Given the description of an element on the screen output the (x, y) to click on. 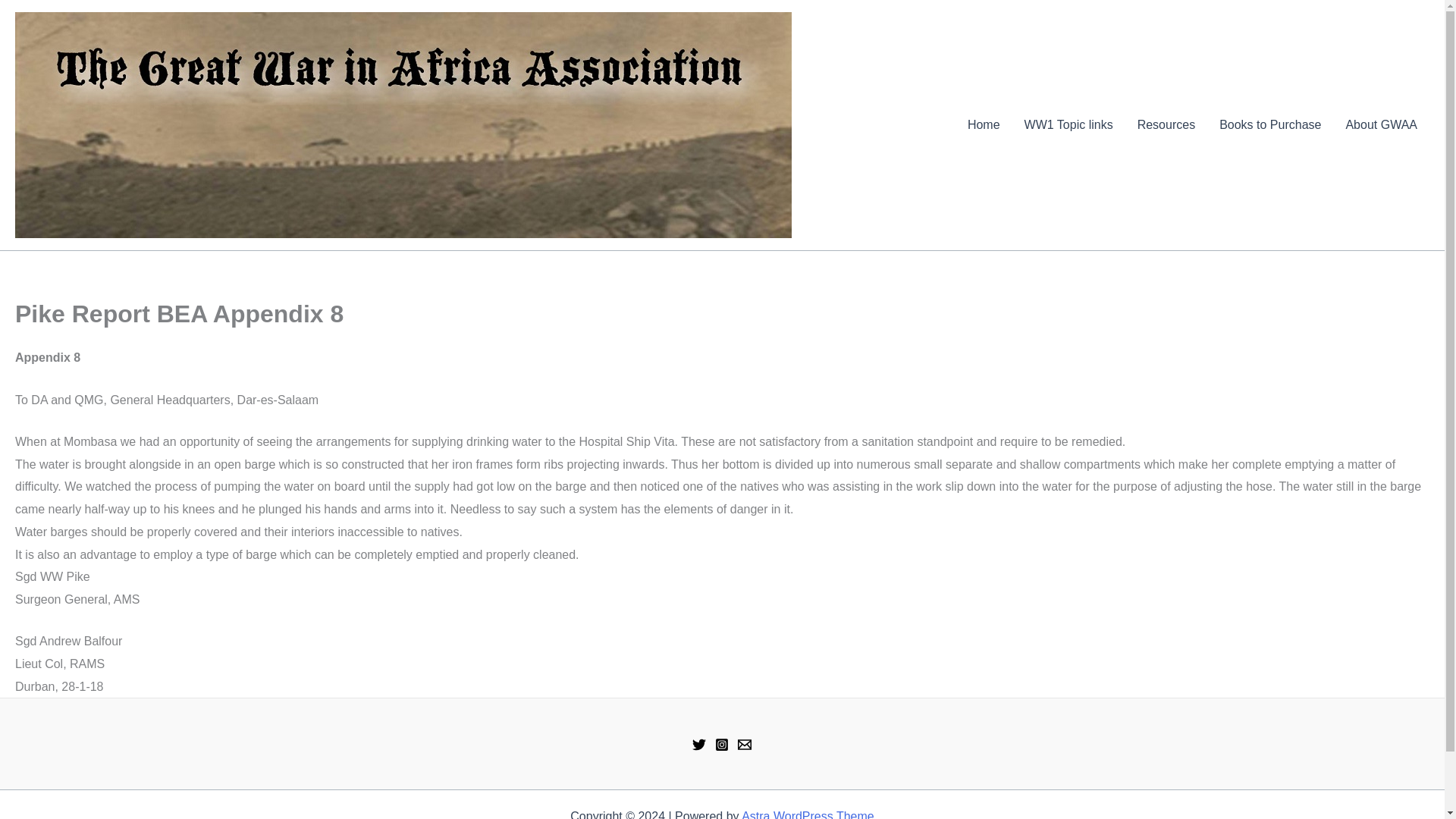
Resources (1166, 125)
About GWAA (1381, 125)
WW1 Topic links (1068, 125)
Books to Purchase (1270, 125)
Home (983, 125)
